Given the description of an element on the screen output the (x, y) to click on. 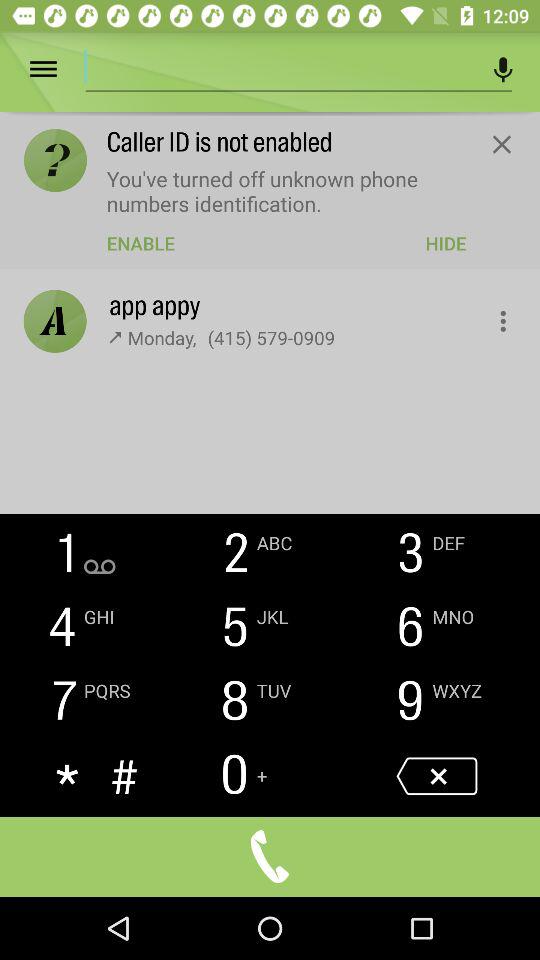
close out of screen (501, 144)
